Given the description of an element on the screen output the (x, y) to click on. 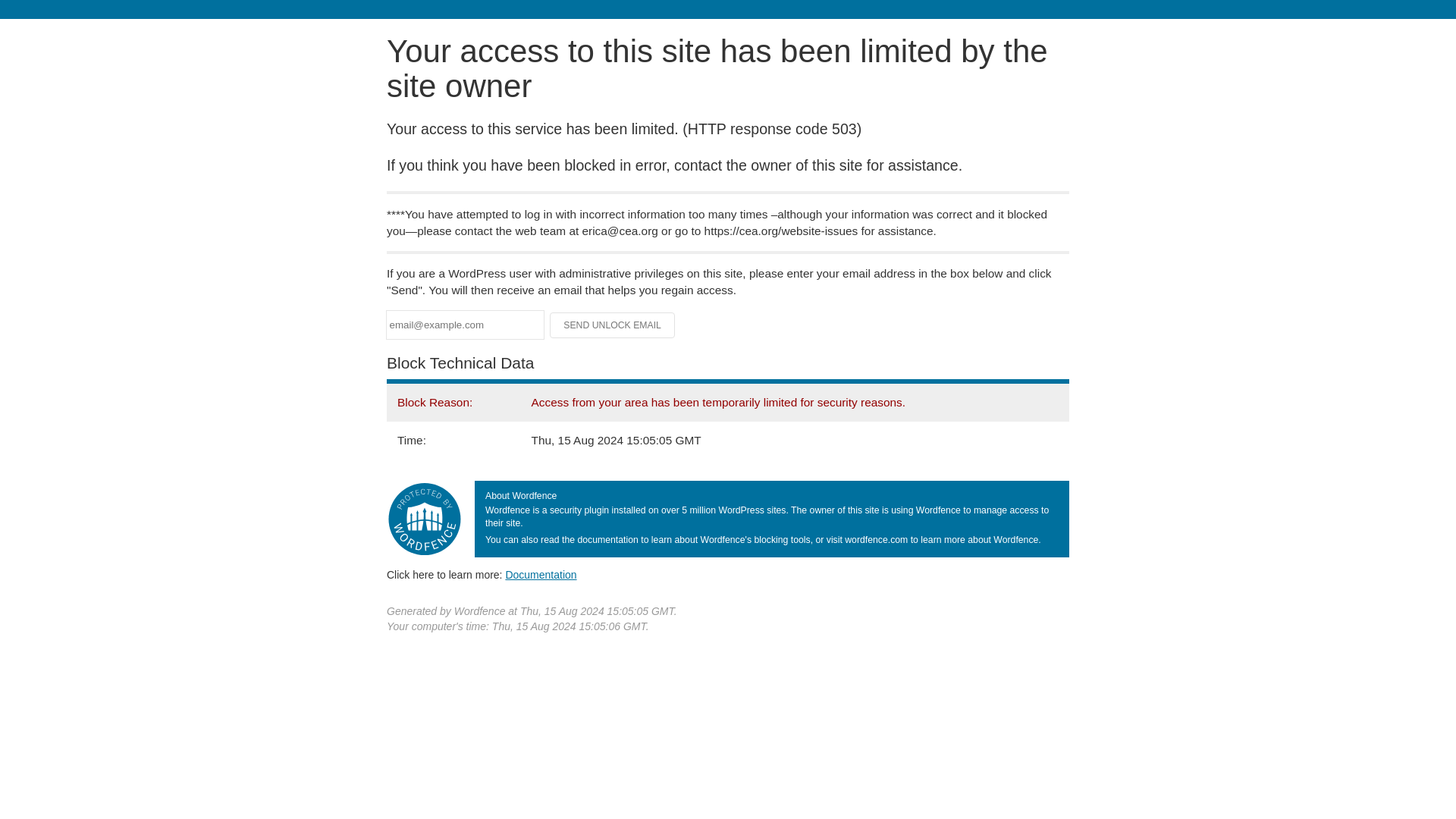
Send Unlock Email (612, 325)
Documentation (540, 574)
Send Unlock Email (612, 325)
